Given the description of an element on the screen output the (x, y) to click on. 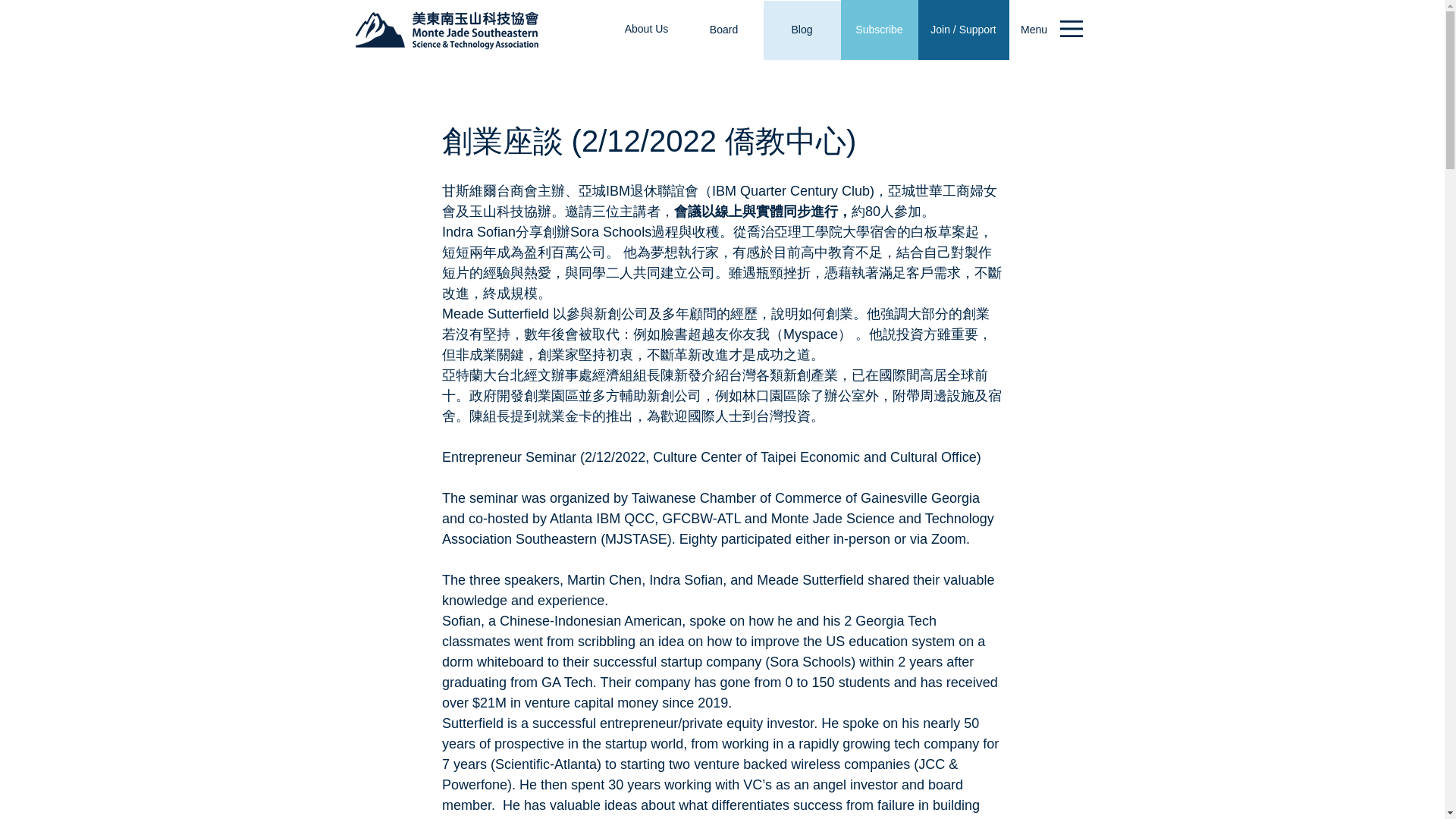
Subscribe (878, 29)
Board (723, 29)
Blog (801, 29)
About Us (646, 29)
